Given the description of an element on the screen output the (x, y) to click on. 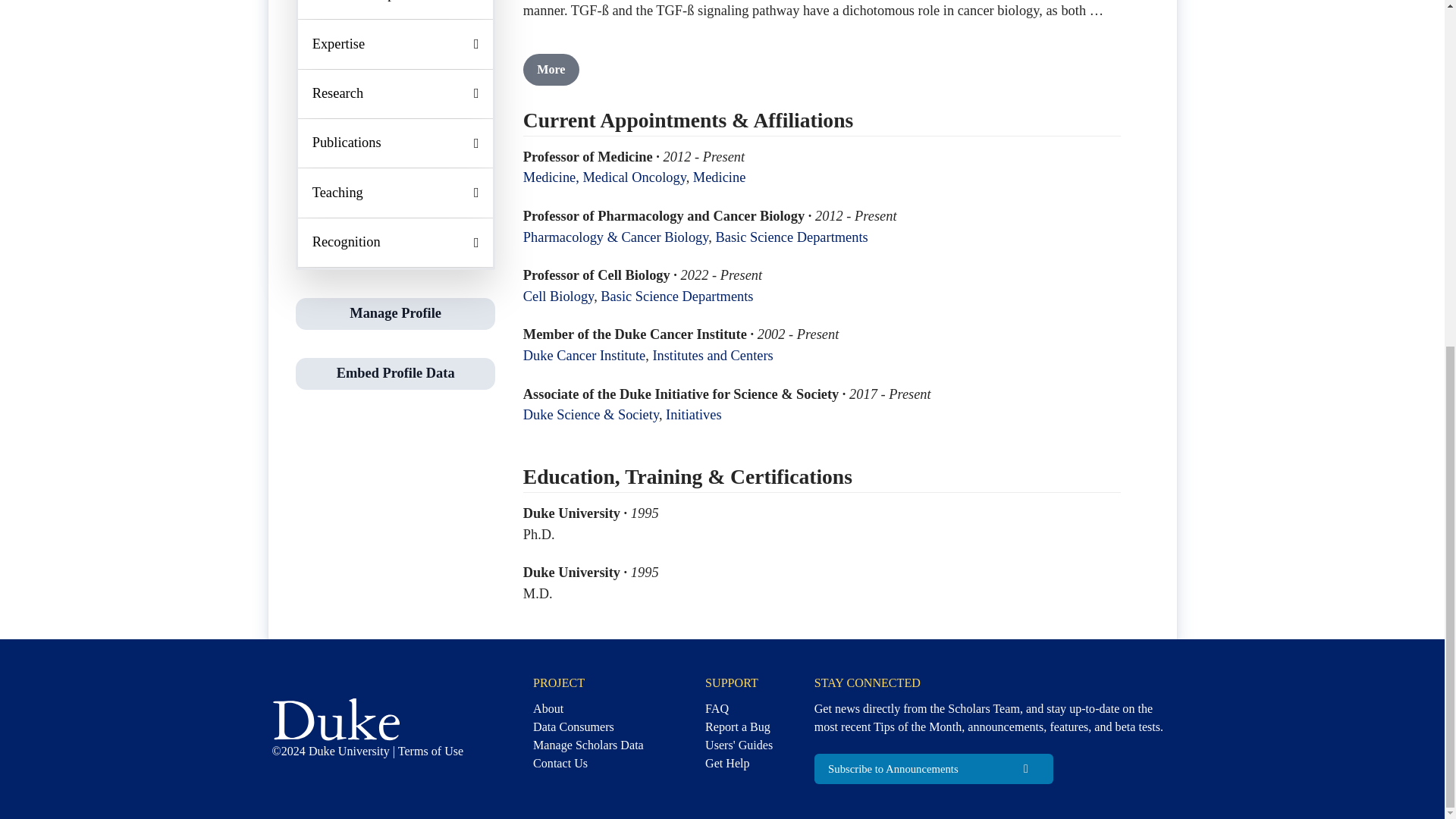
Teaching (395, 192)
Academic Experience (395, 9)
Publications (395, 142)
Research (395, 93)
Expertise (395, 43)
Recognition (395, 242)
